Given the description of an element on the screen output the (x, y) to click on. 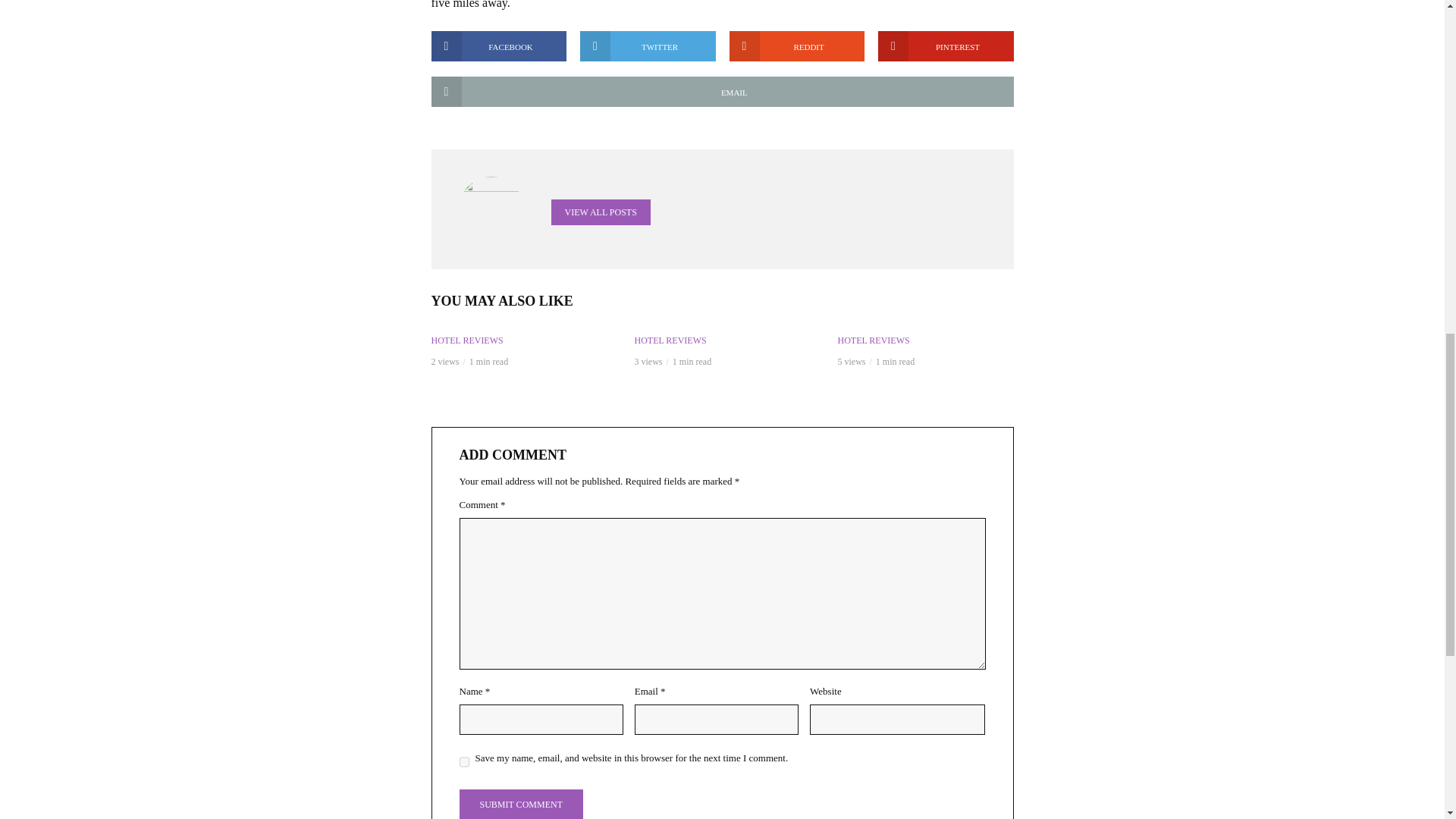
Submit Comment (521, 804)
